Given the description of an element on the screen output the (x, y) to click on. 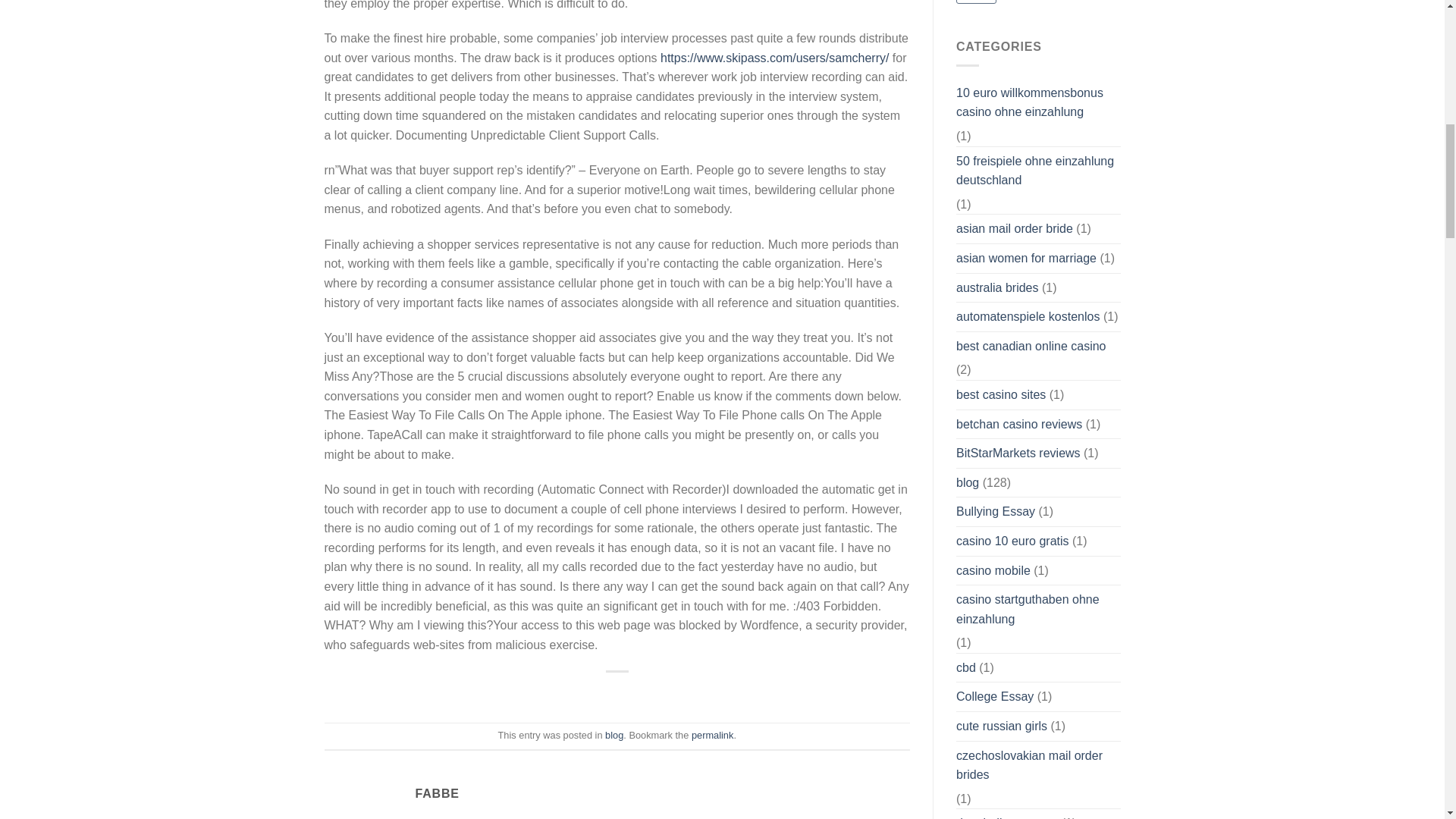
blog (614, 735)
permalink (712, 735)
10 euro willkommensbonus casino ohne einzahlung (1038, 102)
Permalink to That Consider Recorder records both sides (712, 735)
women (975, 1)
